Given the description of an element on the screen output the (x, y) to click on. 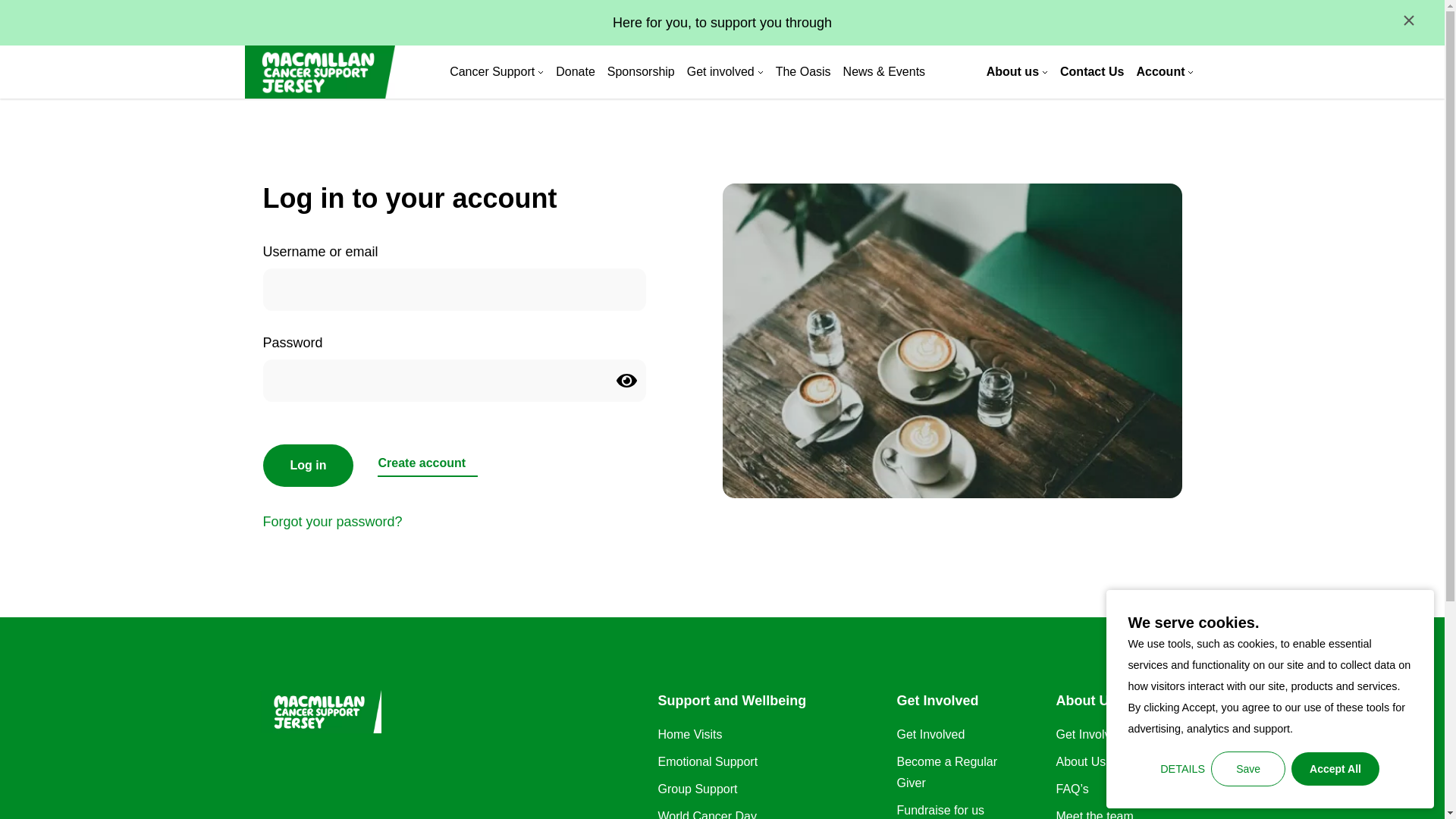
Log in (307, 465)
